Given the description of an element on the screen output the (x, y) to click on. 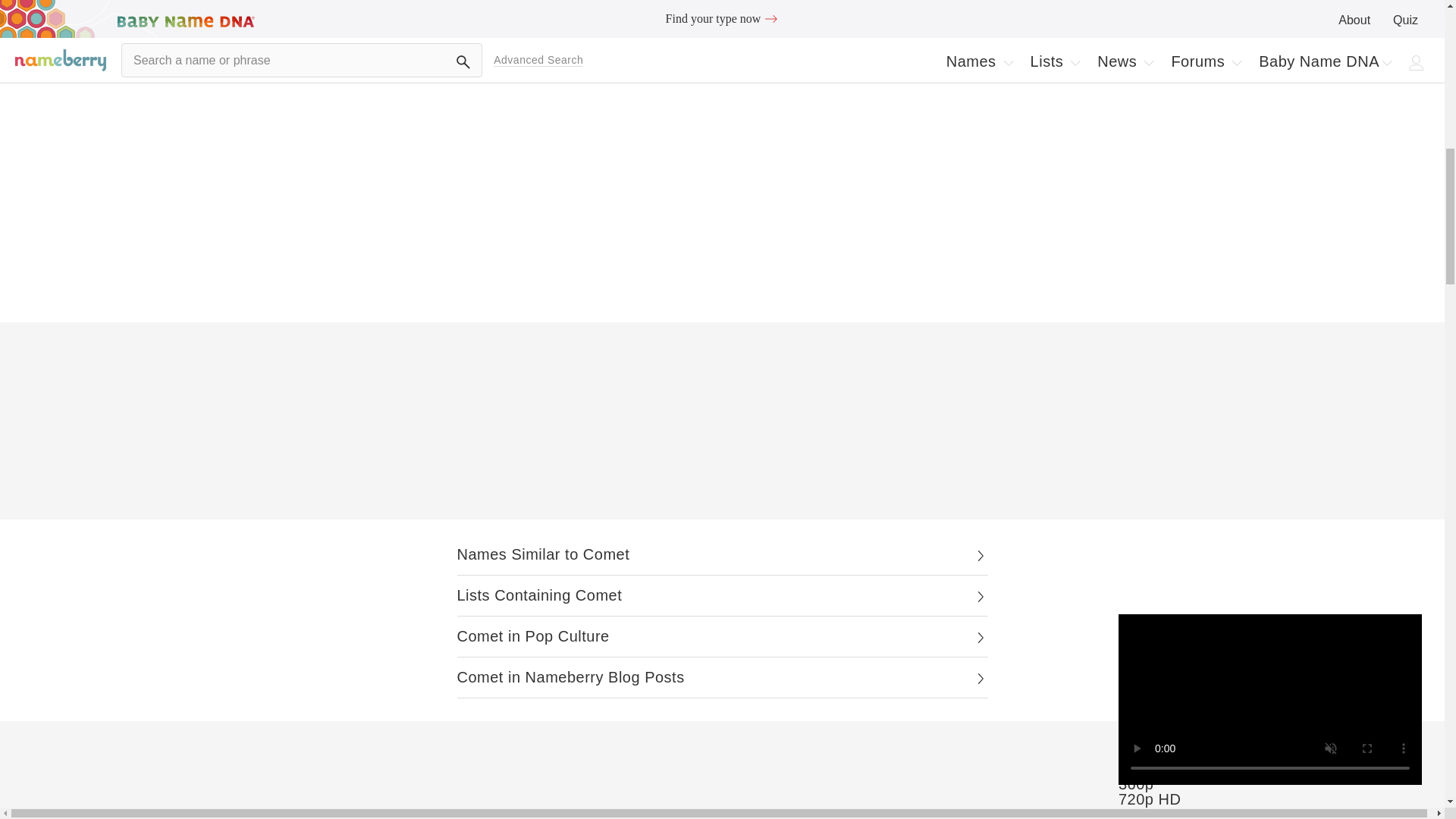
Chevron - Right (979, 555)
Chevron - Right (979, 637)
Chevron - Right (979, 596)
3rd party ad content (721, 424)
Chevron - Right (979, 678)
